Given the description of an element on the screen output the (x, y) to click on. 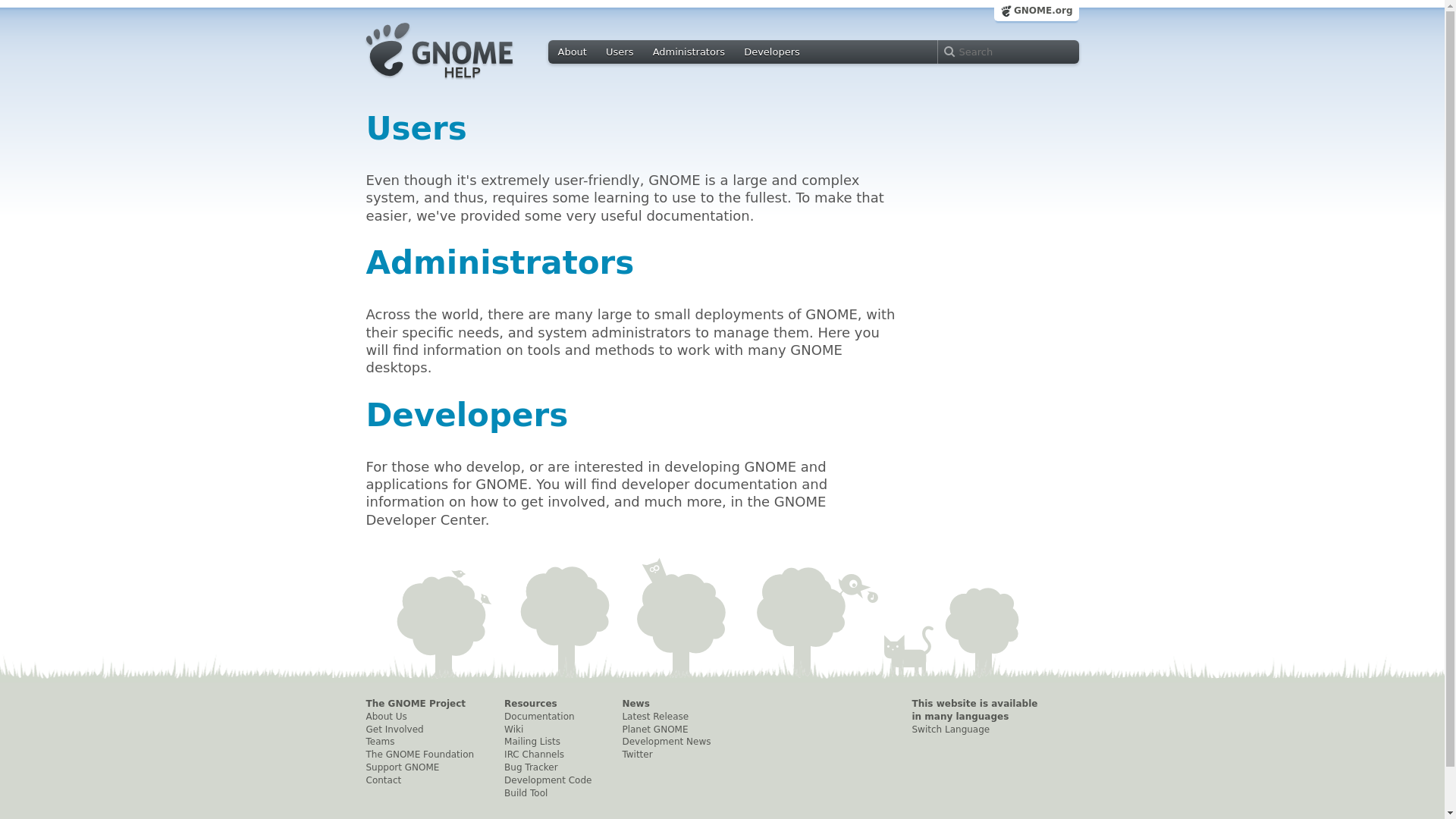
News (665, 703)
The GNOME Foundation (419, 754)
The GNOME Project (419, 703)
Resources (547, 703)
GNOME.org (1036, 11)
Contact (419, 780)
Planet GNOME (665, 729)
Documentation (547, 716)
Development Code (547, 780)
Get Involved (419, 729)
Latest Release (665, 716)
Administrators (499, 262)
Bug Tracker (547, 767)
Administrators (688, 51)
Developers (466, 414)
